Given the description of an element on the screen output the (x, y) to click on. 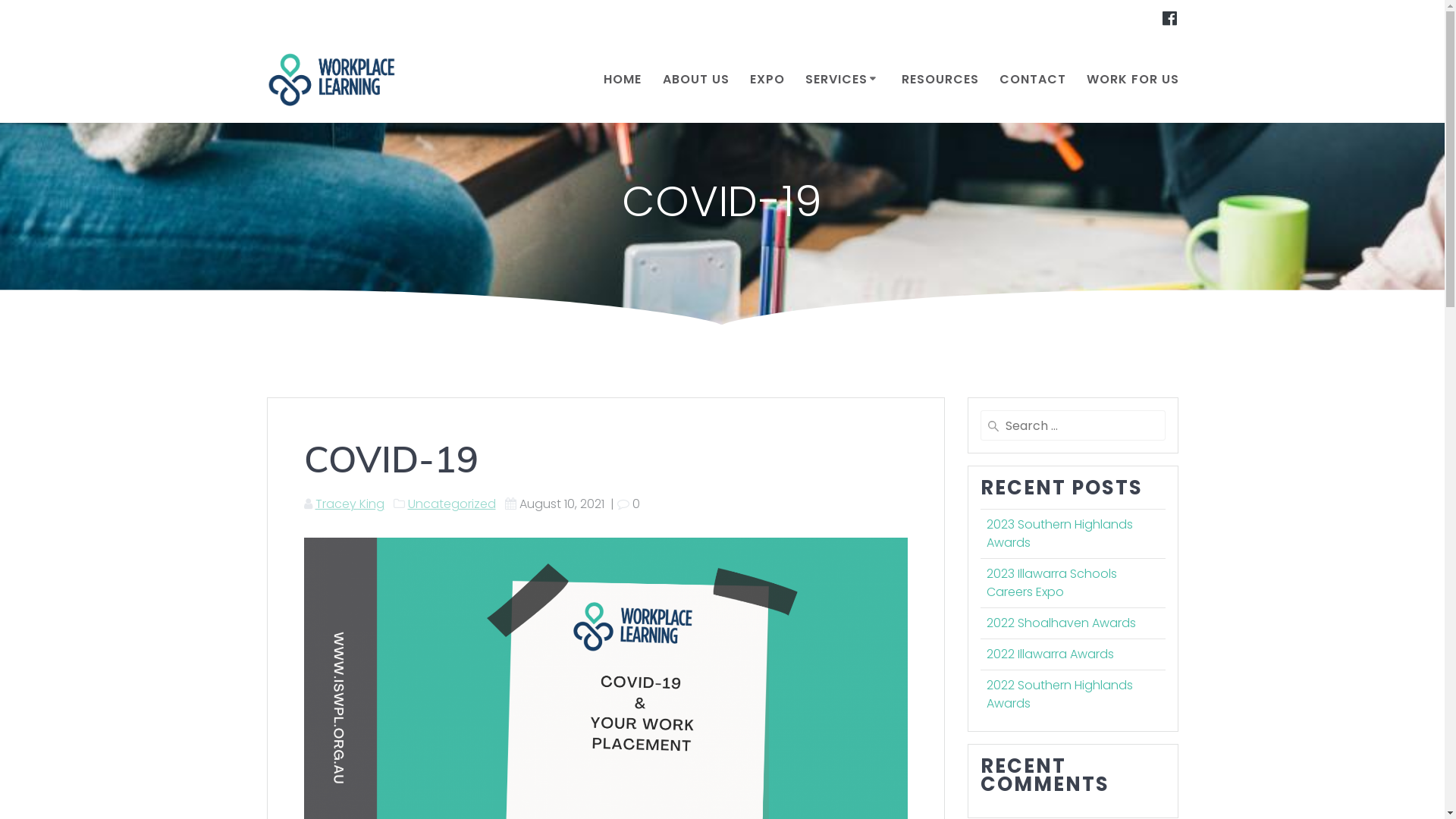
2023 Southern Highlands Awards Element type: text (1058, 533)
EXPO Element type: text (766, 80)
CONTACT Element type: text (1032, 80)
2023 Illawarra Schools Careers Expo Element type: text (1050, 582)
2022 Shoalhaven Awards Element type: text (1060, 622)
WORK FOR US Element type: text (1132, 80)
SERVICES Element type: text (842, 80)
Tracey King Element type: text (349, 503)
ABOUT US Element type: text (695, 80)
Uncategorized Element type: text (451, 503)
HOME Element type: text (622, 80)
RESOURCES Element type: text (940, 80)
2022 Southern Highlands Awards Element type: text (1058, 694)
2022 Illawarra Awards Element type: text (1049, 653)
